Given the description of an element on the screen output the (x, y) to click on. 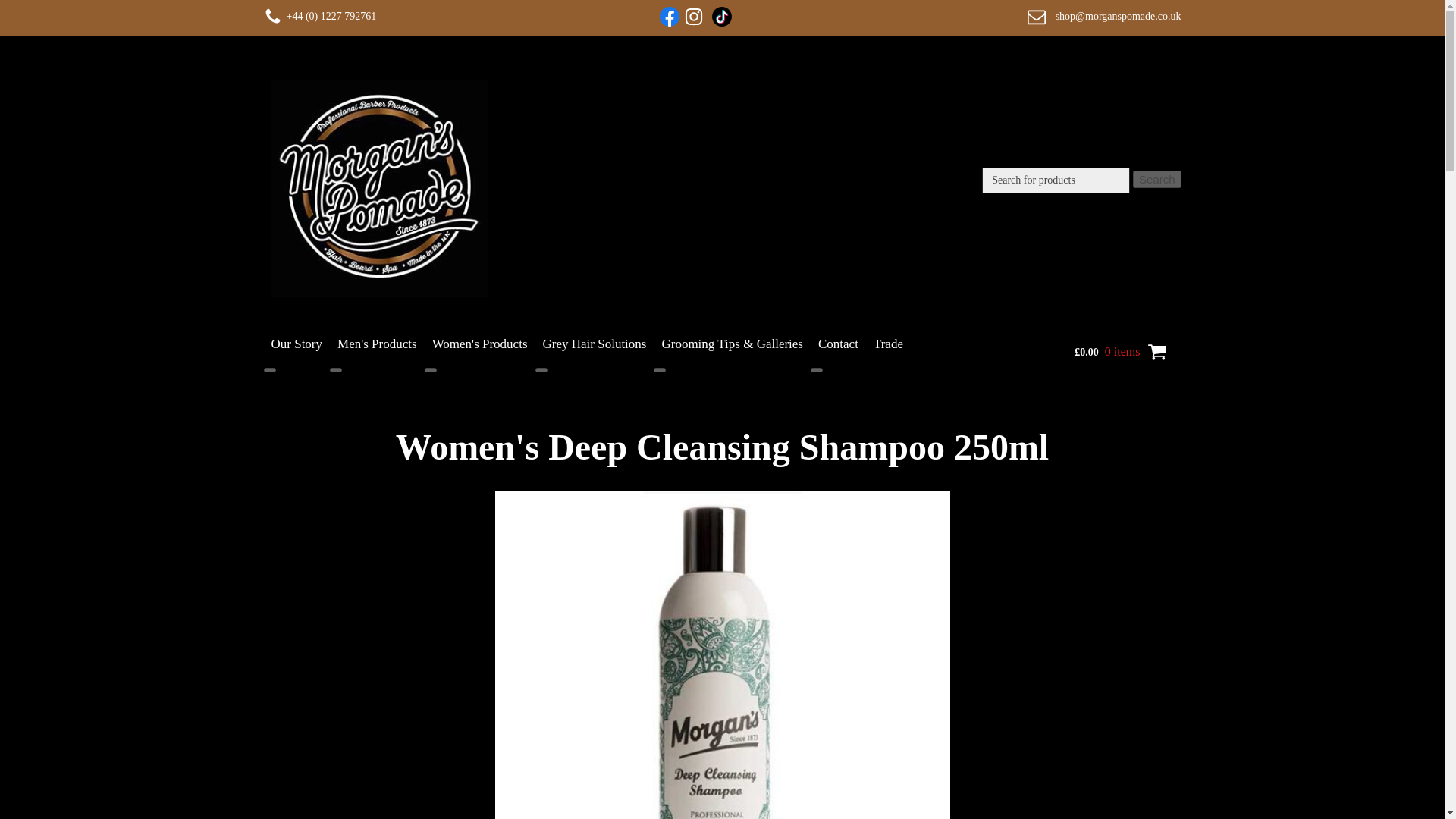
Search (1156, 179)
Men's Products (377, 344)
Search (1156, 179)
Our Story (296, 344)
Women's Products (480, 344)
Grey Hair Solutions (594, 344)
